Given the description of an element on the screen output the (x, y) to click on. 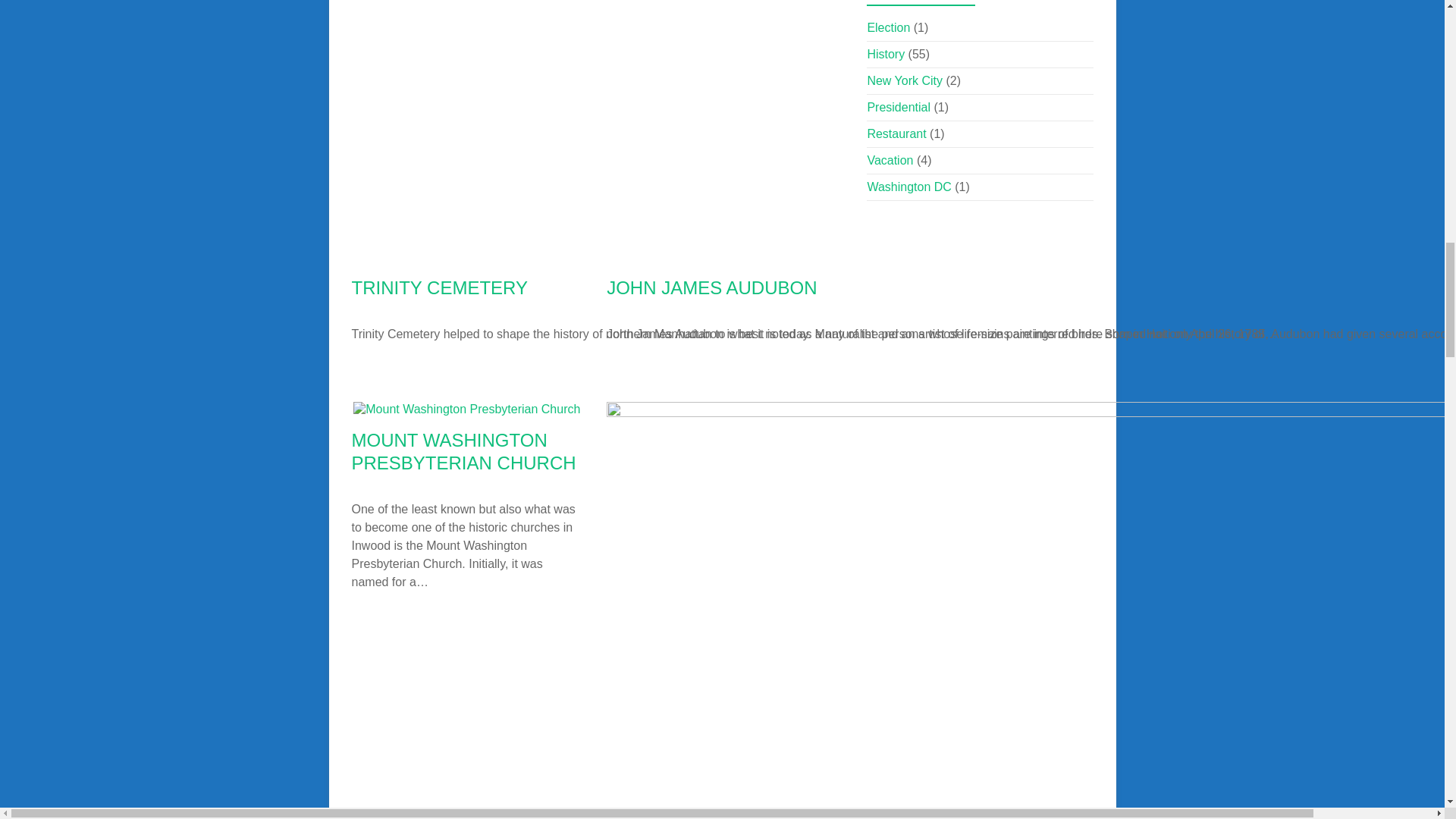
Trinity Cemetery (837, 256)
JOHN JAMES AUDUBON (711, 287)
MOUNT WASHINGTON PRESBYTERIAN CHURCH (464, 451)
TRINITY CEMETERY (439, 287)
Mount Washington Presbyterian Church (466, 408)
